Given the description of an element on the screen output the (x, y) to click on. 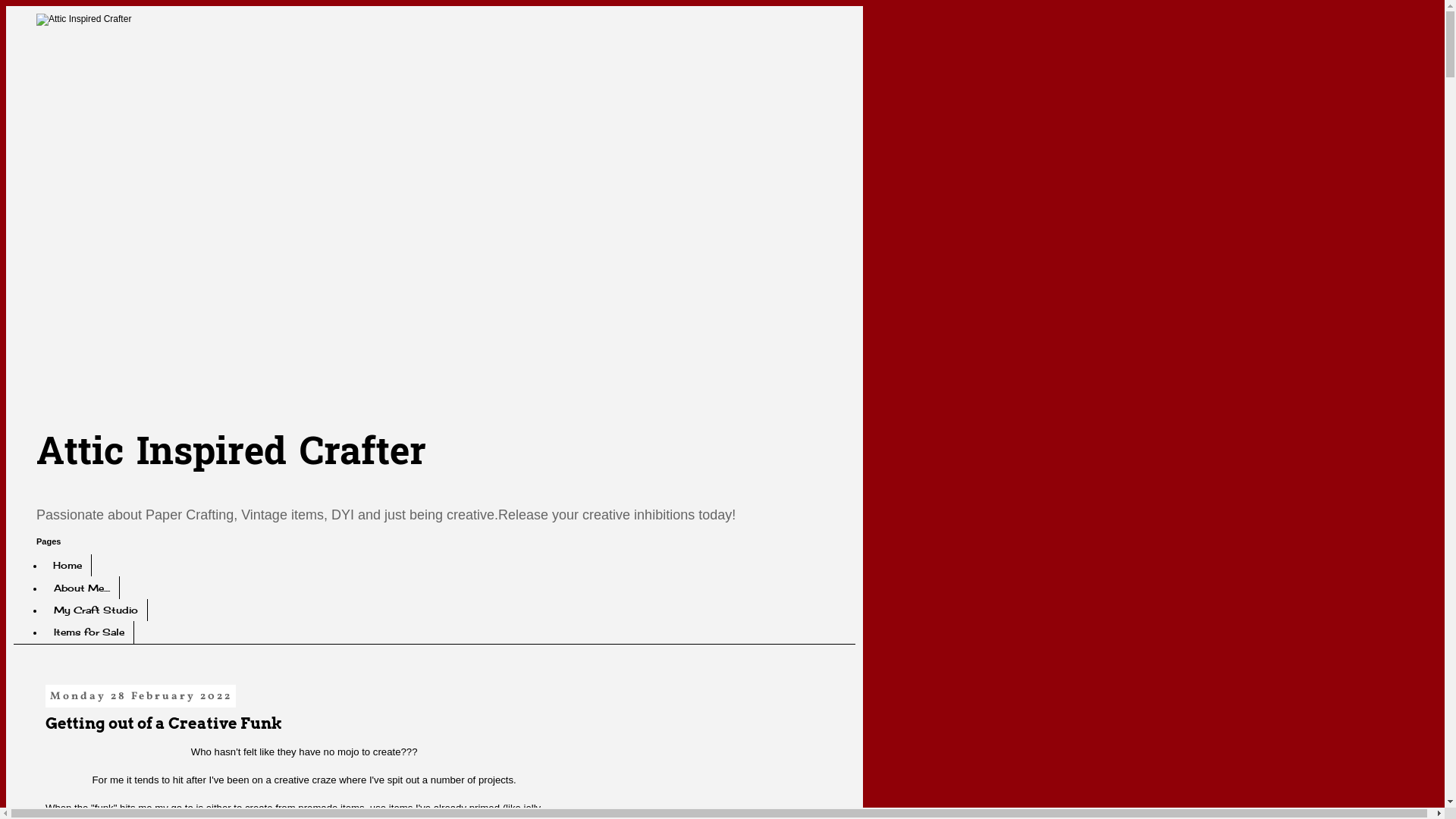
My Craft Studio Element type: text (95, 610)
Home Element type: text (67, 565)
Attic Inspired Crafter Element type: text (231, 453)
Items for Sale Element type: text (88, 632)
About Me.... Element type: text (81, 587)
